Given the description of an element on the screen output the (x, y) to click on. 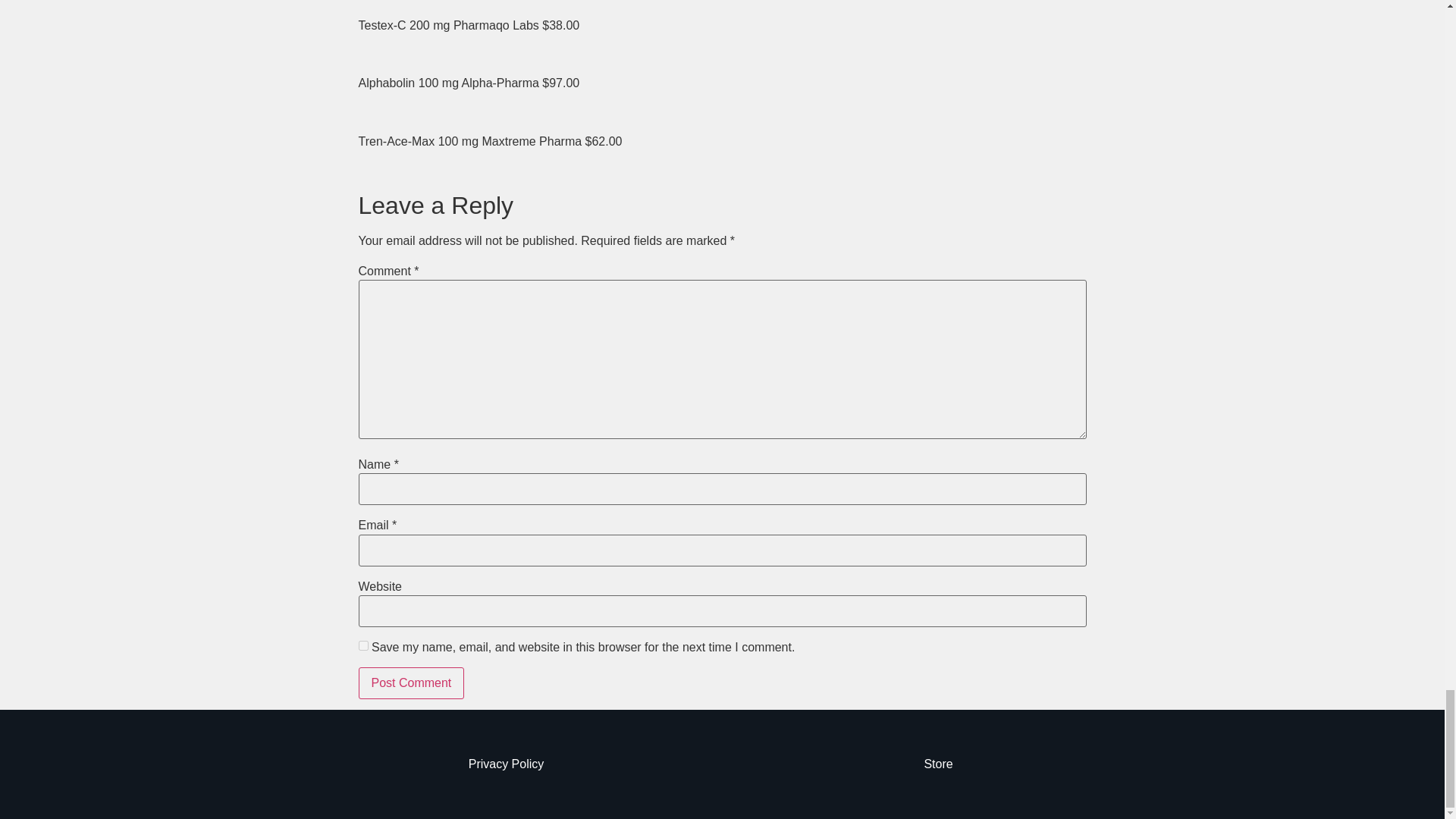
Post Comment (411, 683)
yes (363, 645)
Privacy Policy (506, 763)
Post Comment (411, 683)
Store (937, 763)
